Given the description of an element on the screen output the (x, y) to click on. 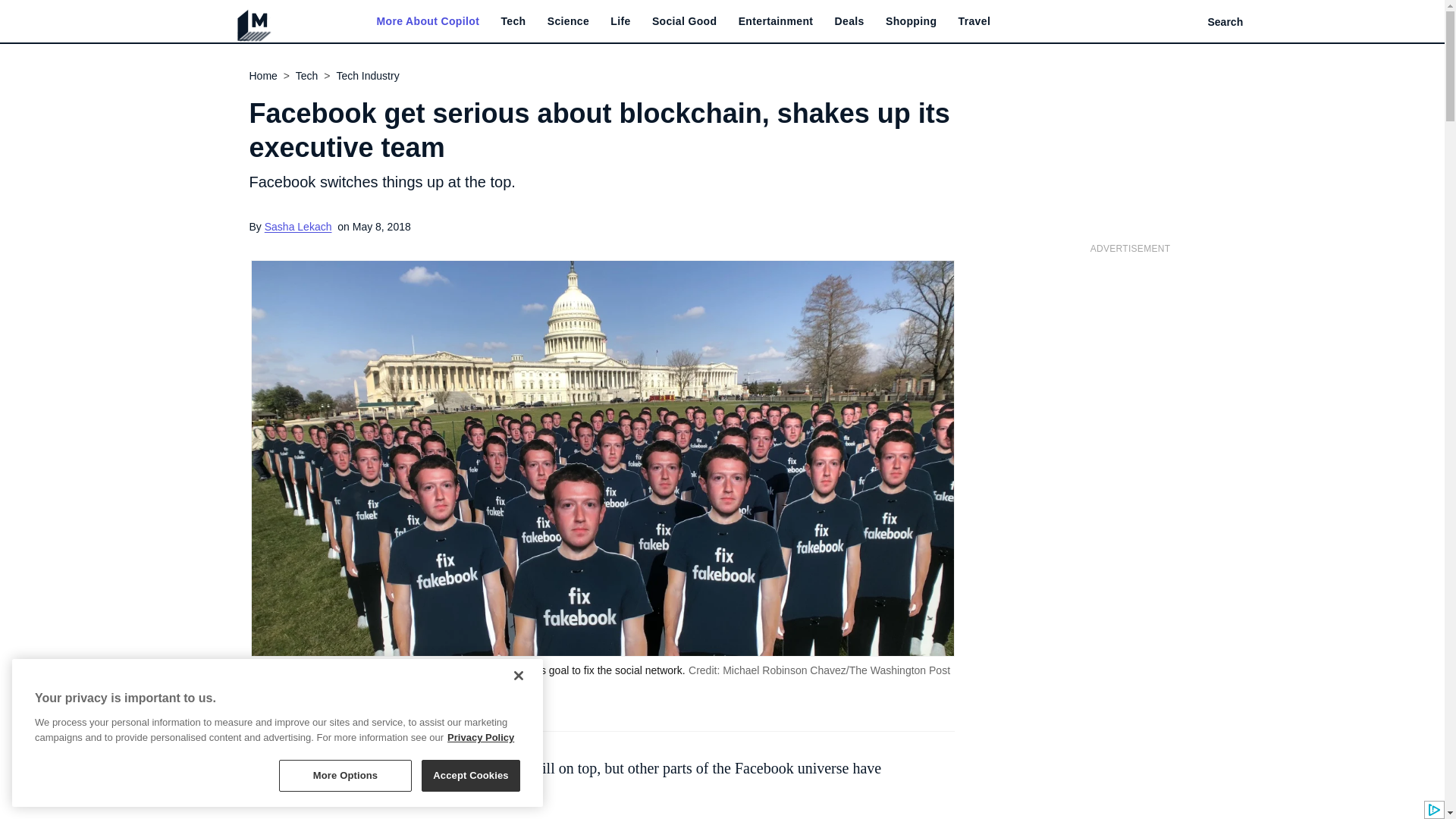
Travel (974, 21)
Tech (512, 21)
Entertainment (775, 21)
Social Good (684, 21)
Shopping (910, 21)
Deals (849, 21)
Science (568, 21)
Life (620, 21)
More About Copilot (427, 21)
